Given the description of an element on the screen output the (x, y) to click on. 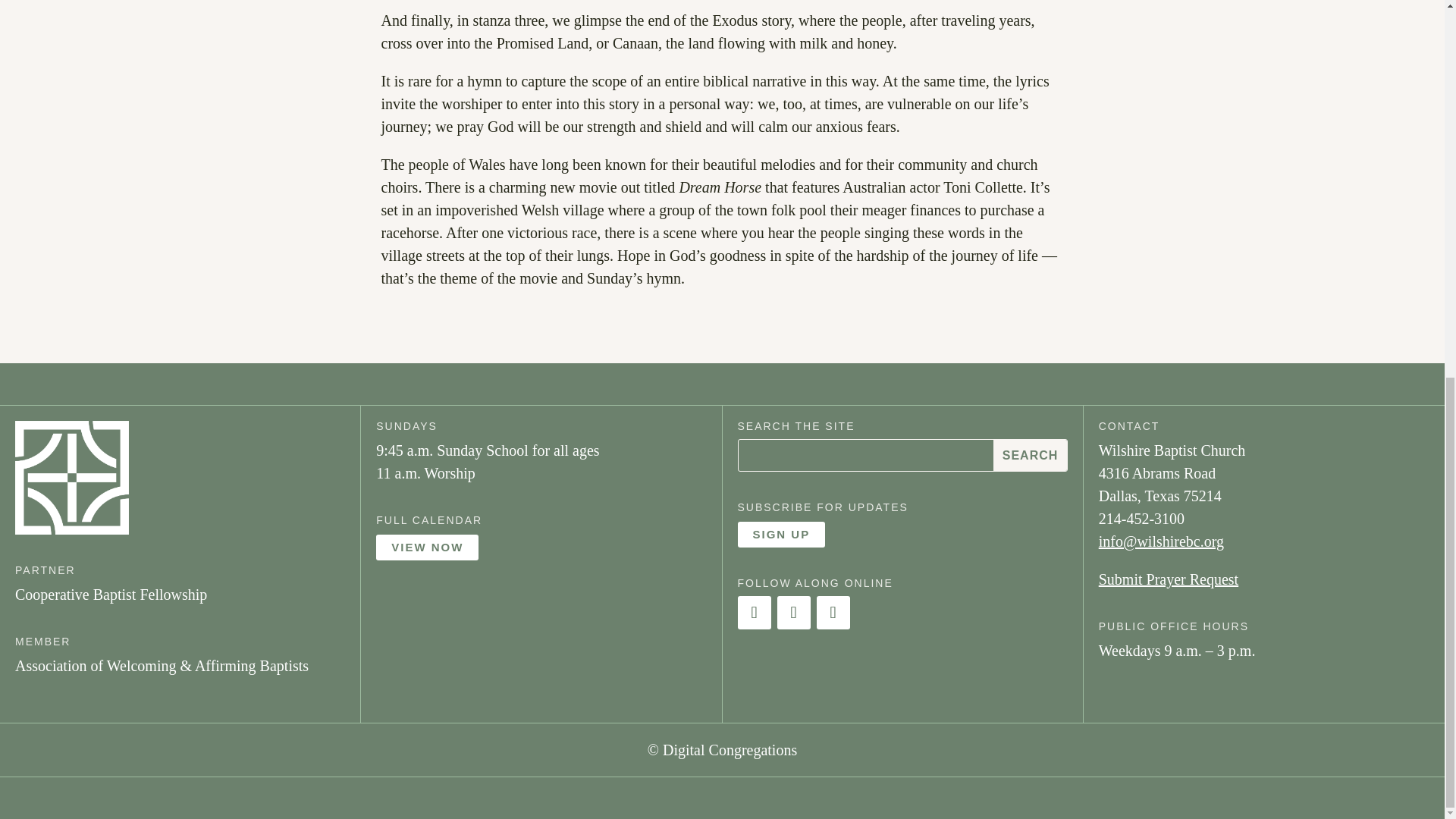
Follow on Youtube (831, 612)
Follow on Instagram (792, 612)
Search (1028, 454)
logo-background-07 (71, 477)
Follow on Facebook (753, 612)
Search (1028, 454)
